Given the description of an element on the screen output the (x, y) to click on. 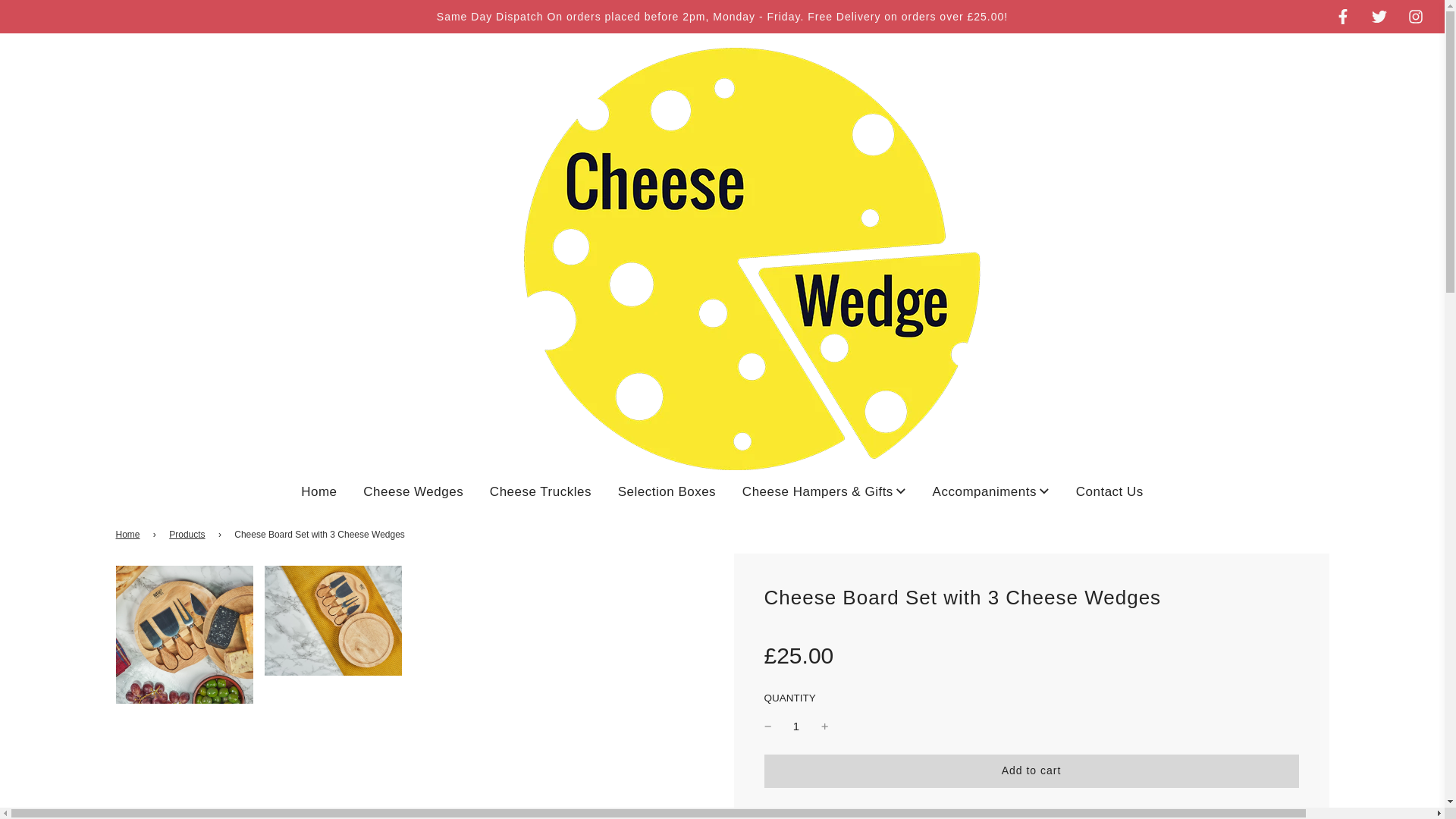
1 (796, 726)
Cheese Truckles (540, 491)
Accompaniments (991, 491)
Contact Us (1109, 491)
Cheese Wedges (413, 491)
Selection Boxes (666, 491)
Back to the frontpage (129, 534)
Home (318, 491)
